Given the description of an element on the screen output the (x, y) to click on. 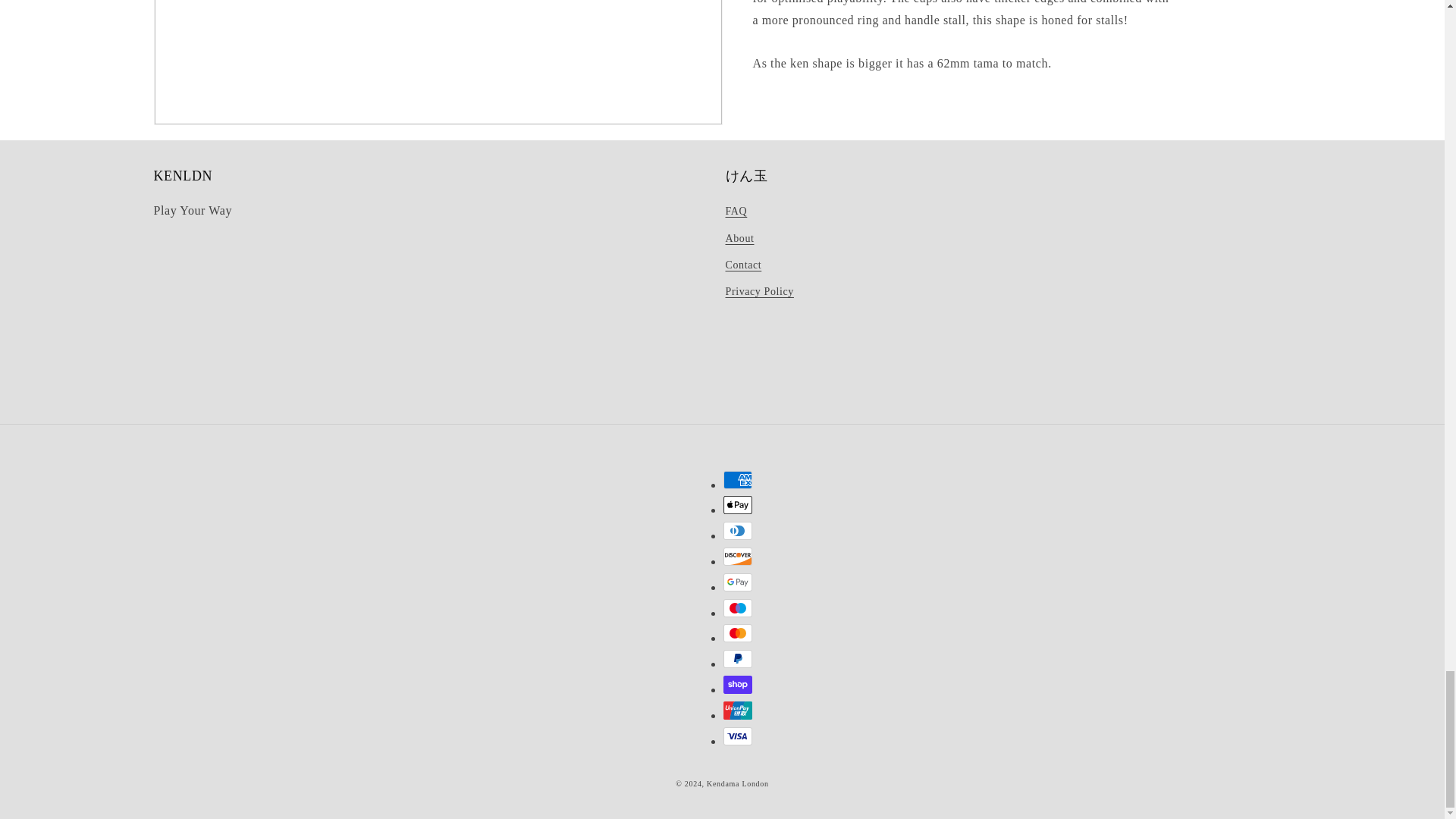
PayPal (737, 659)
Discover (737, 556)
Shop Pay (737, 684)
Union Pay (737, 710)
Maestro (737, 607)
Mastercard (737, 633)
Google Pay (737, 582)
American Express (737, 479)
Visa (737, 736)
Diners Club (737, 530)
Apple Pay (737, 505)
